Given the description of an element on the screen output the (x, y) to click on. 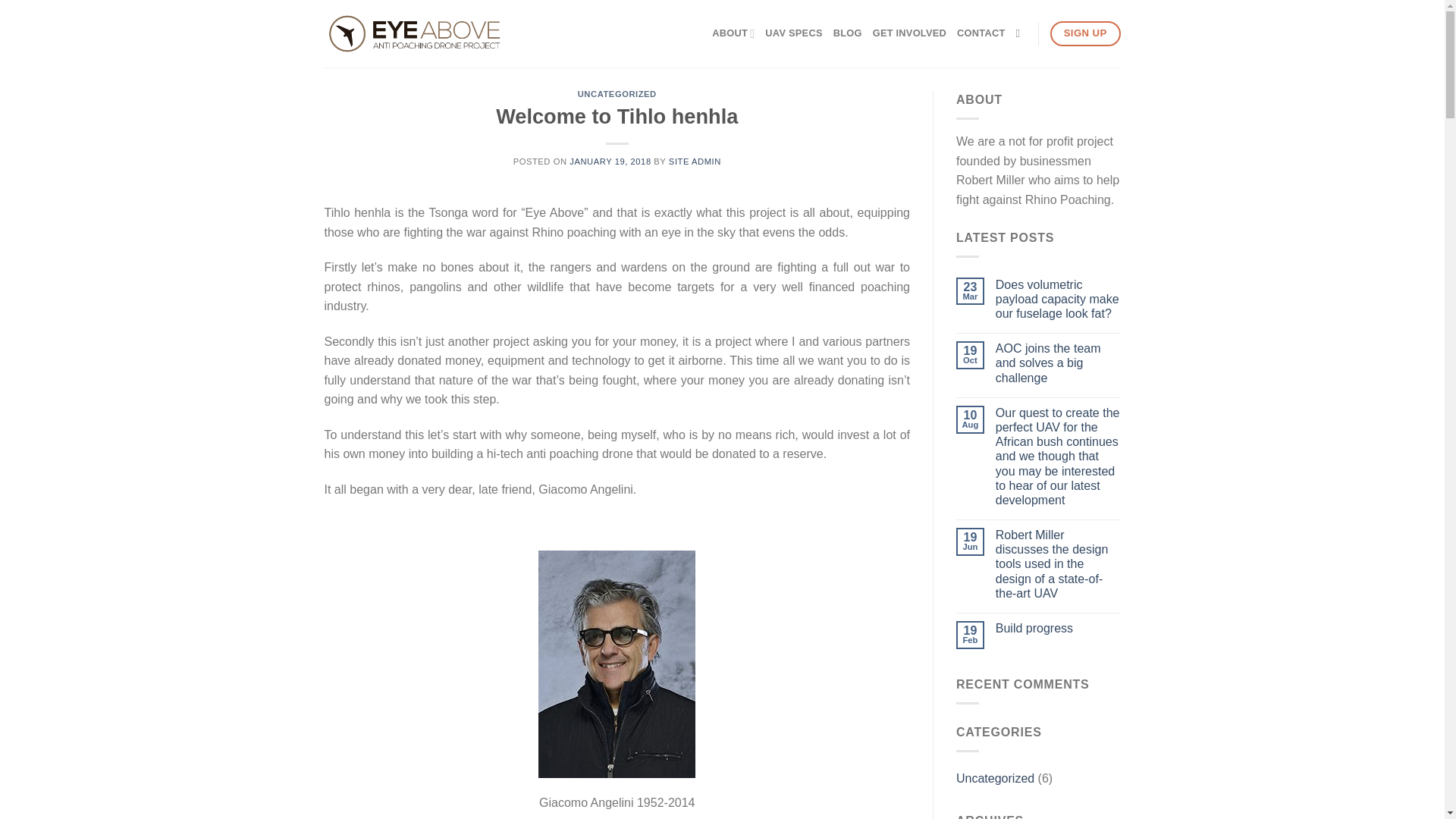
AOC joins the team and solves a big challenge (1058, 362)
JANUARY 19, 2018 (609, 161)
Does volumetric payload capacity make our fuselage look fat? (1058, 299)
Does volumetric payload capacity make our fuselage look fat? (1058, 299)
BLOG (846, 33)
SIGN UP (1085, 33)
CONTACT (980, 33)
UAV SPECS (793, 33)
SITE ADMIN (694, 161)
ABOUT (732, 33)
AOC joins the team and solves a big challenge (1058, 362)
UNCATEGORIZED (617, 93)
